Given the description of an element on the screen output the (x, y) to click on. 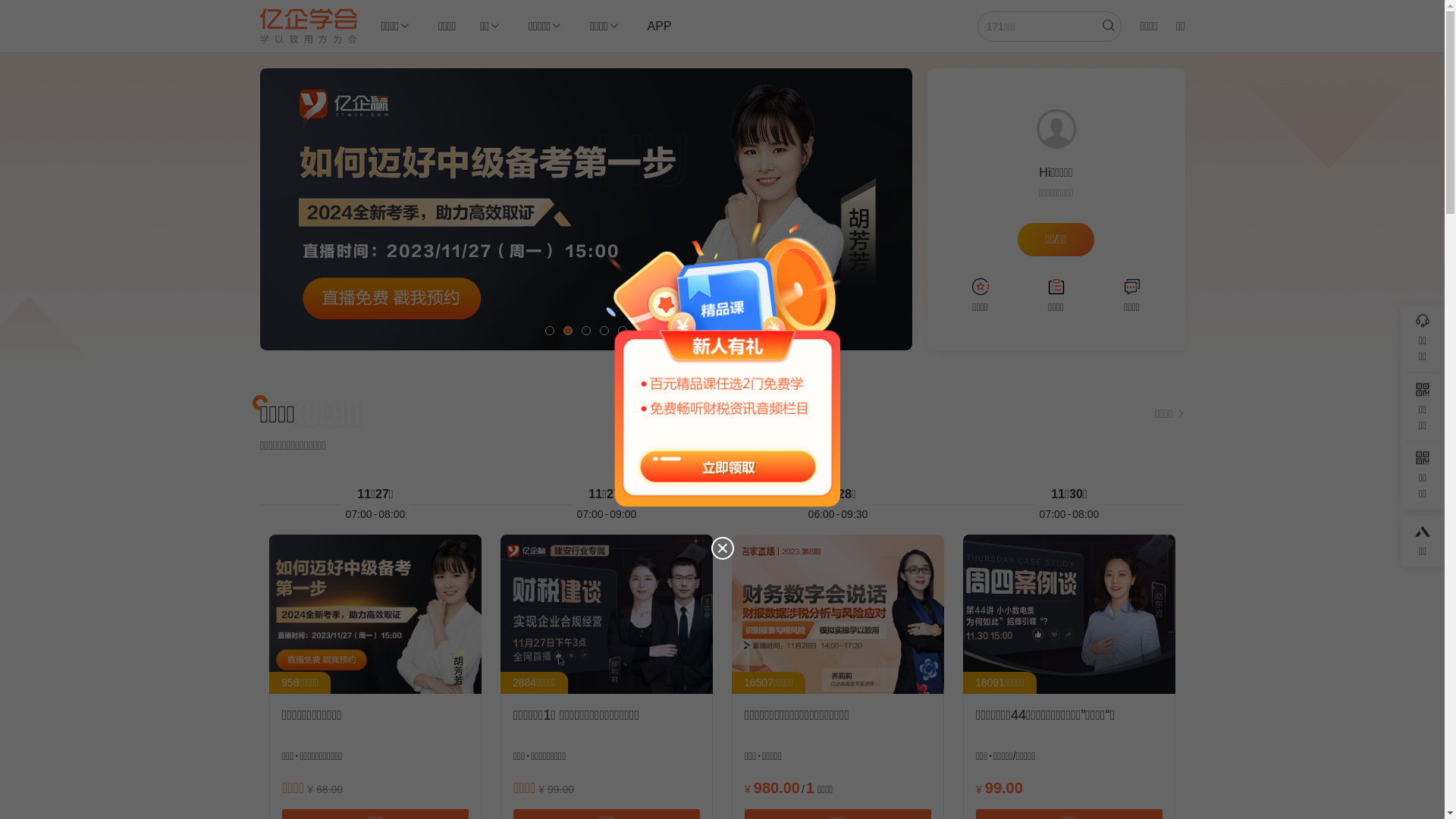
2 Element type: text (566, 330)
1 Element type: text (548, 330)
3 Element type: text (584, 330)
4 Element type: text (603, 330)
5 Element type: text (621, 330)
APP Element type: text (659, 25)
